Given the description of an element on the screen output the (x, y) to click on. 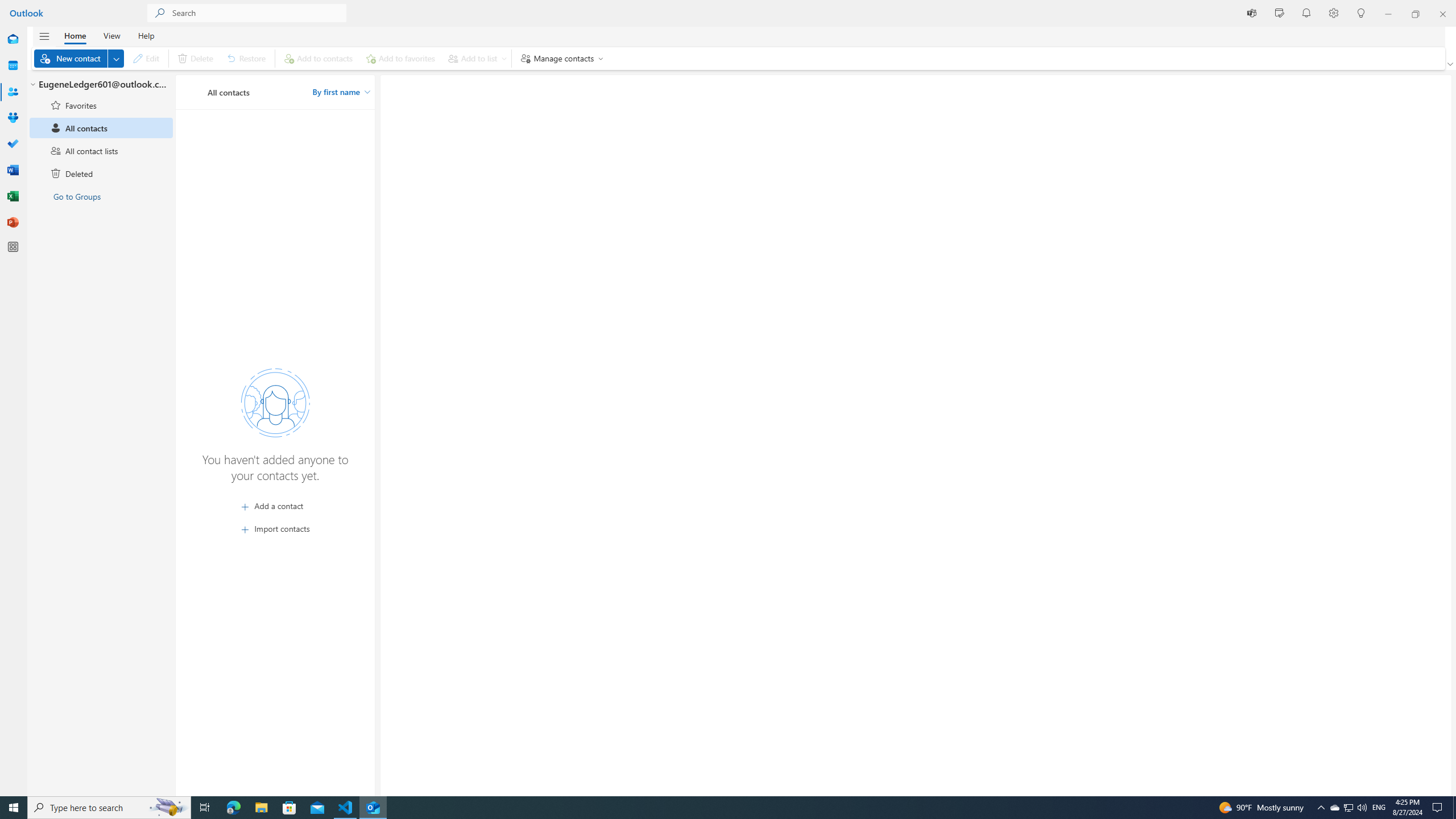
Excel (12, 196)
Mail (12, 39)
All contact lists (101, 150)
System (6, 6)
Add a contact (274, 505)
